Given the description of an element on the screen output the (x, y) to click on. 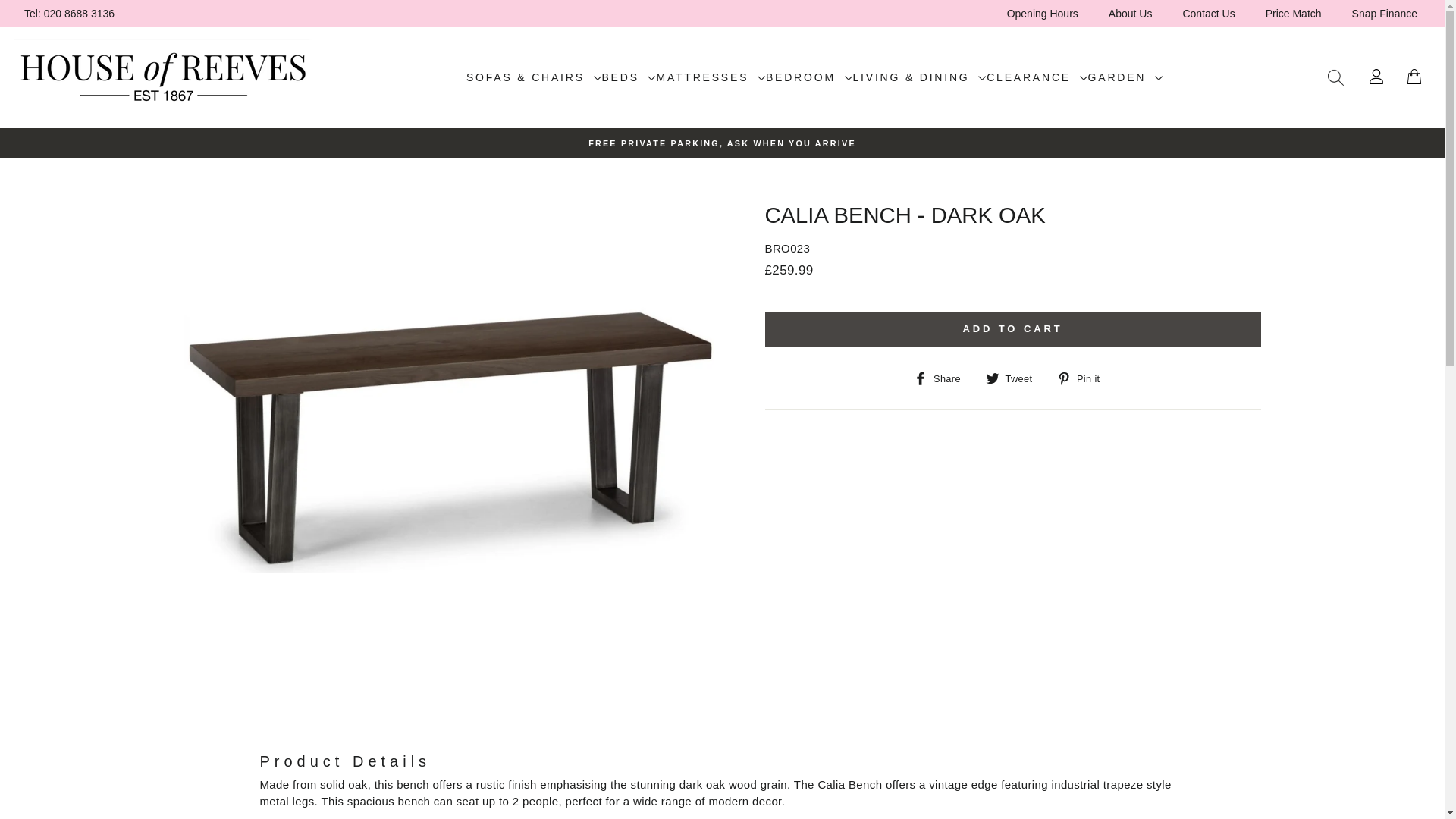
Tweet on Twitter (1014, 377)
Share on Facebook (942, 377)
Pin on Pinterest (1083, 377)
